Given the description of an element on the screen output the (x, y) to click on. 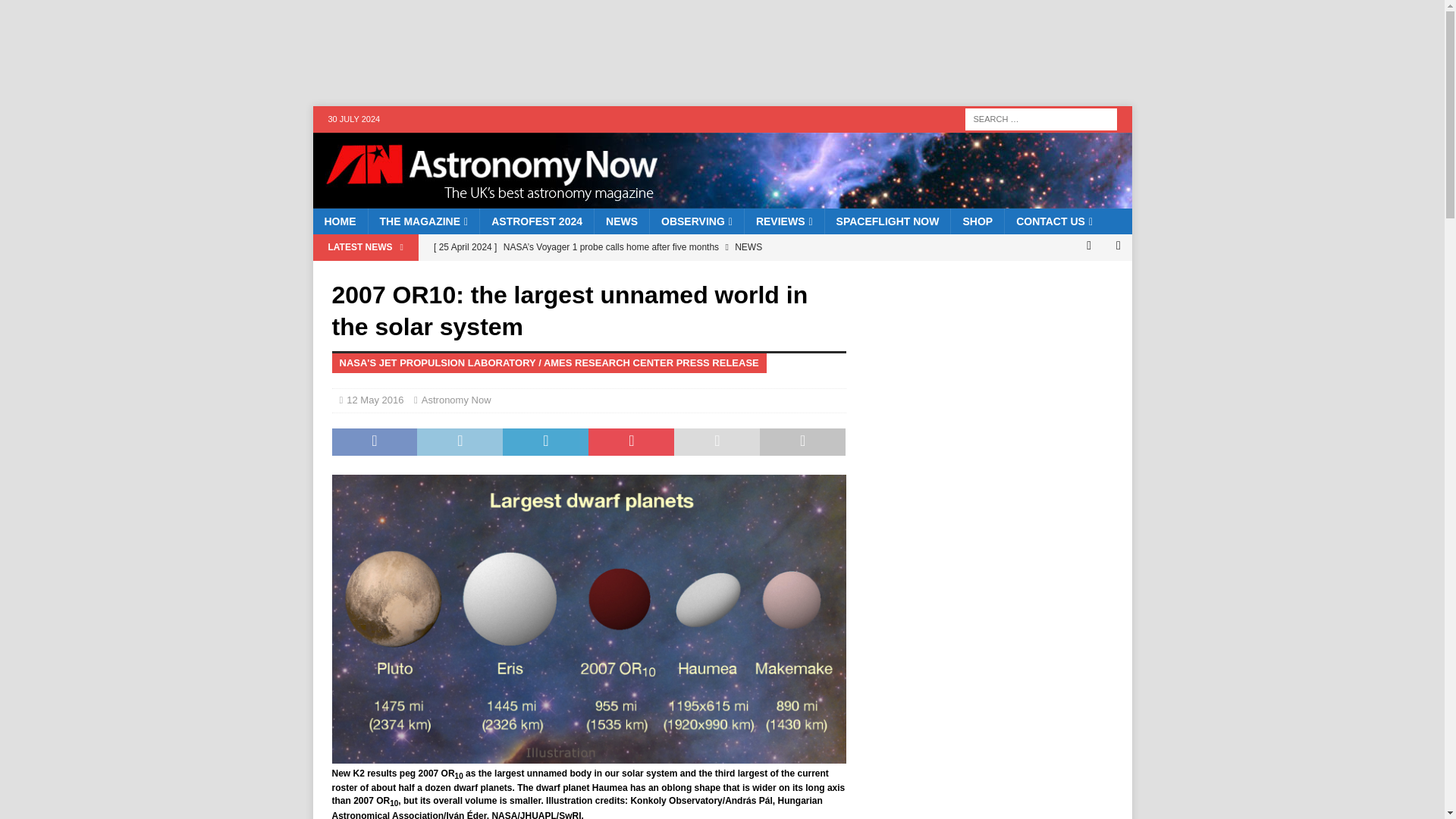
3rd party ad content (604, 52)
HOME (339, 221)
Search (56, 11)
THE MAGAZINE (422, 221)
Commercial lunar lander returns America to the Moon (634, 272)
Astronomy Now (722, 200)
